Given the description of an element on the screen output the (x, y) to click on. 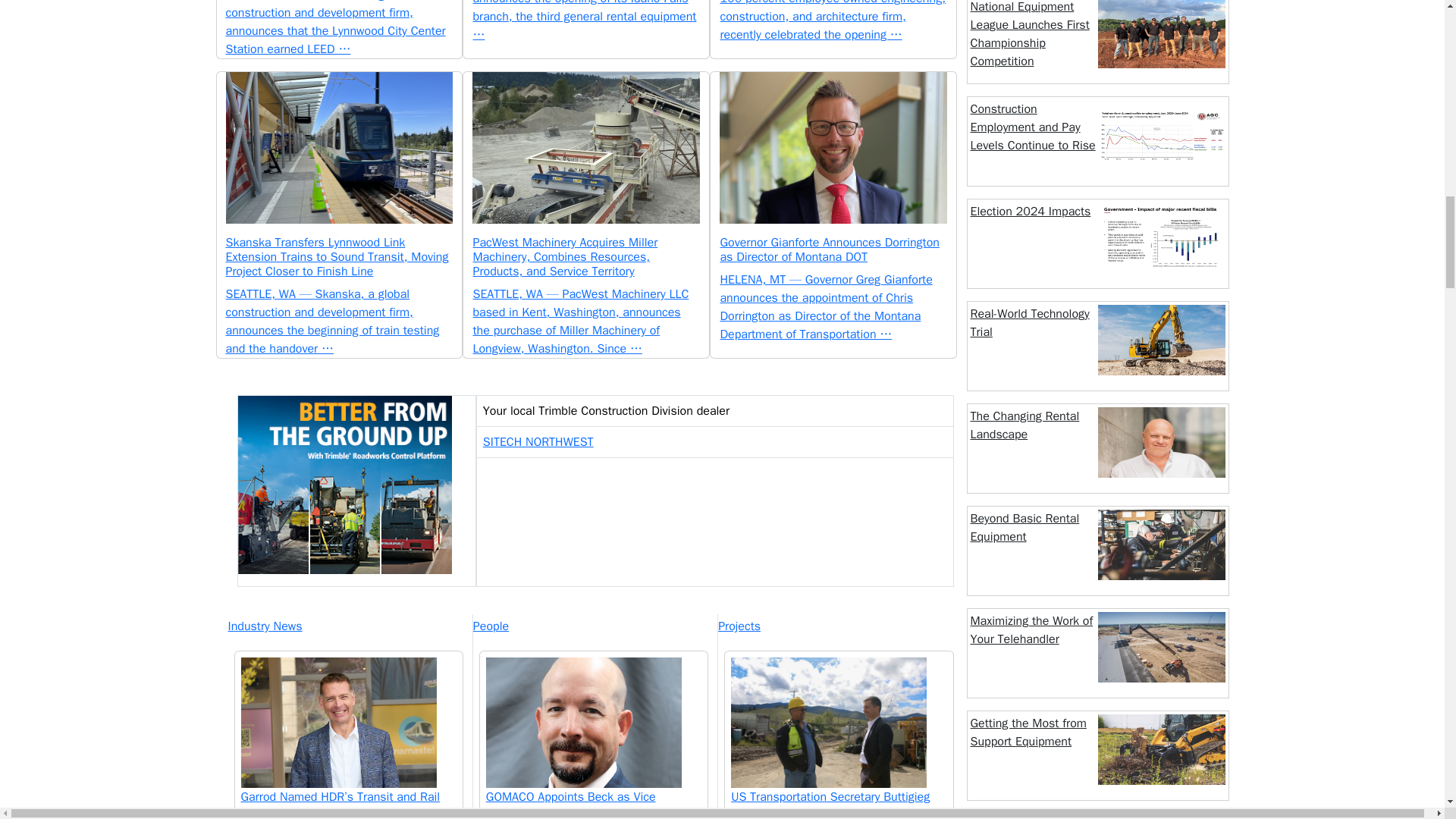
Industry News (349, 626)
SITECH NORTHWEST (538, 441)
